Given the description of an element on the screen output the (x, y) to click on. 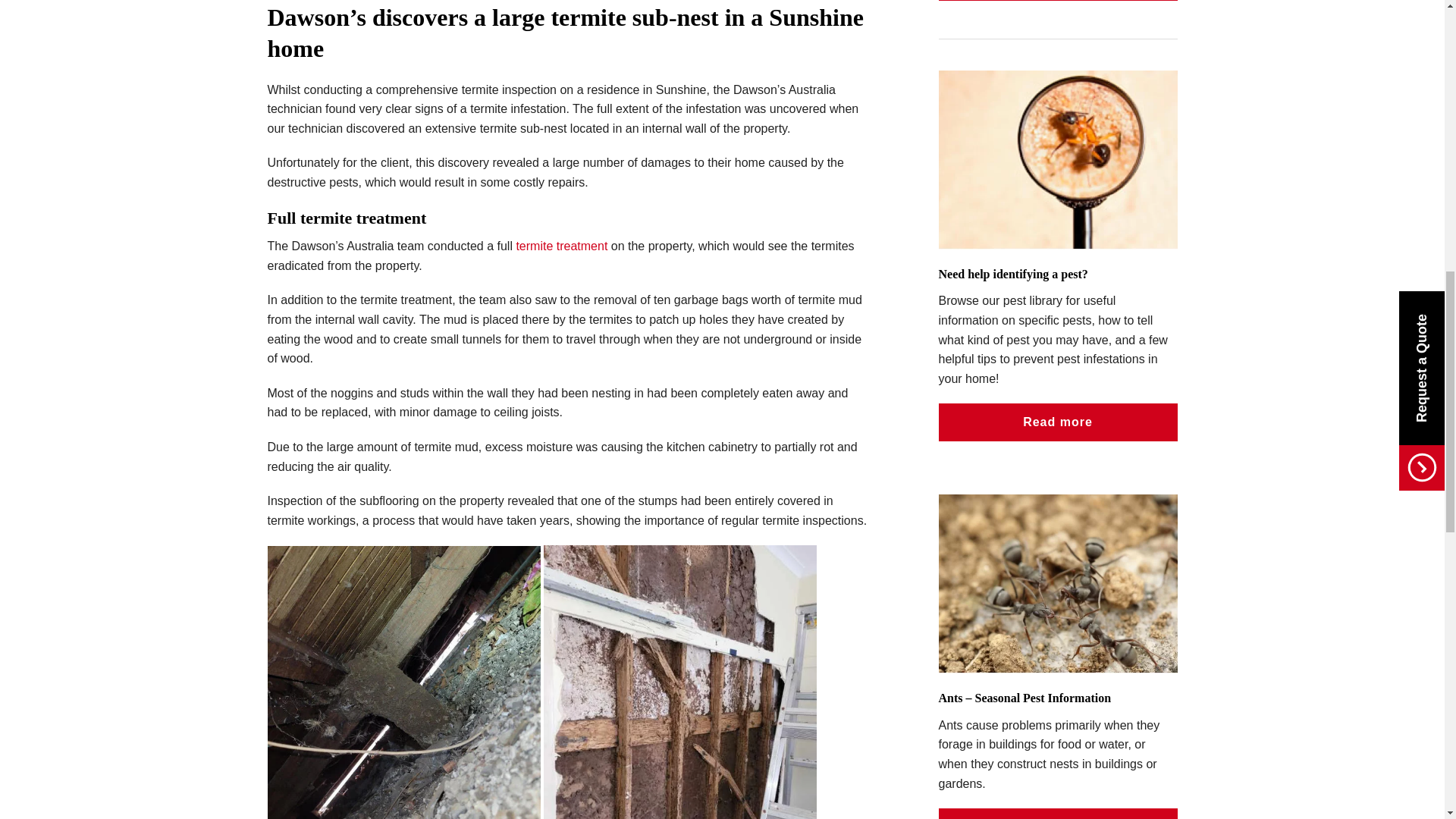
Need help identifying a pest? (1013, 273)
Read more (1058, 422)
termite treatment (561, 245)
Read more (1058, 813)
